Given the description of an element on the screen output the (x, y) to click on. 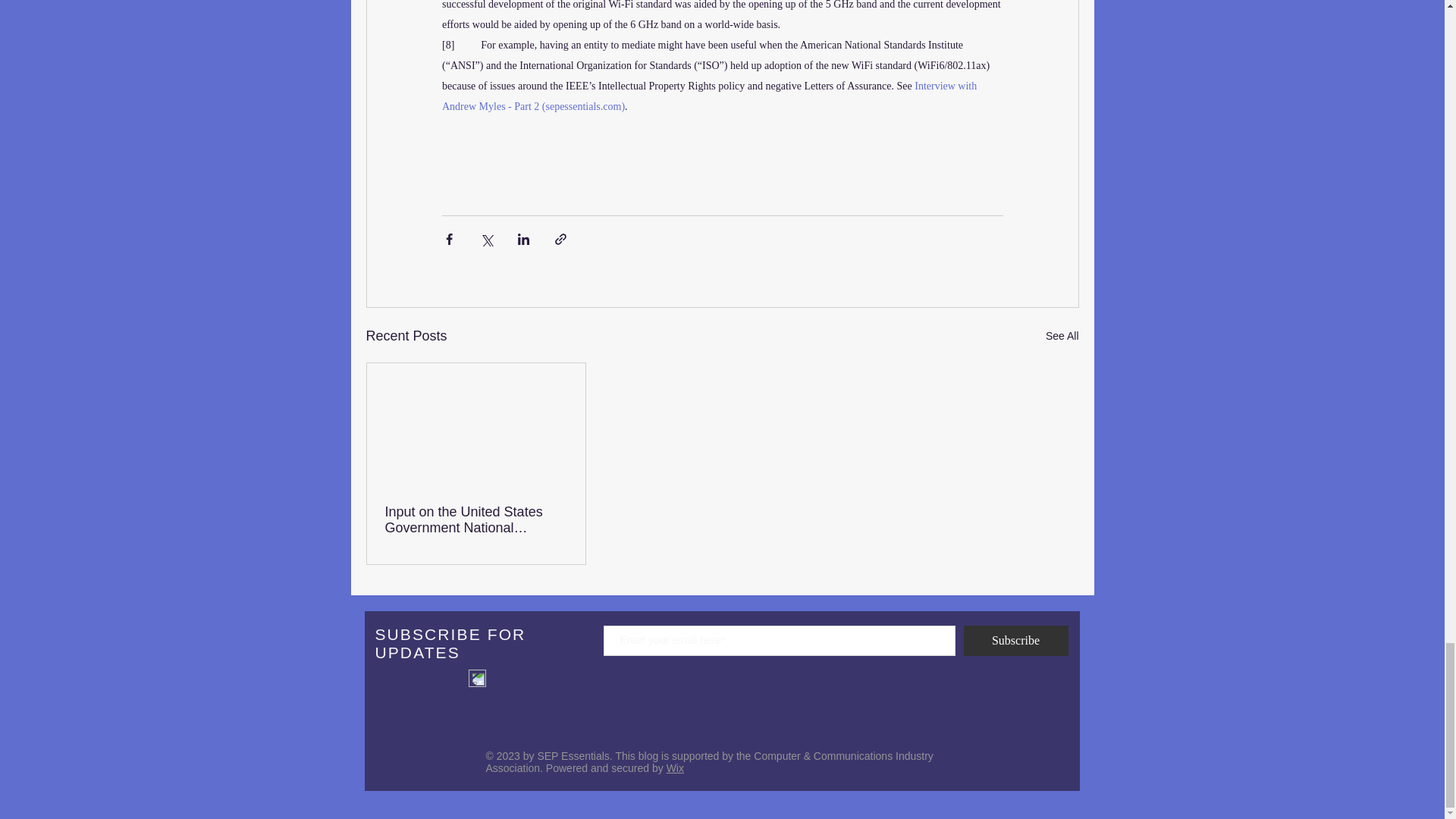
Wix (675, 767)
Top of page (477, 678)
Subscribe (1014, 640)
See All (1061, 336)
